Given the description of an element on the screen output the (x, y) to click on. 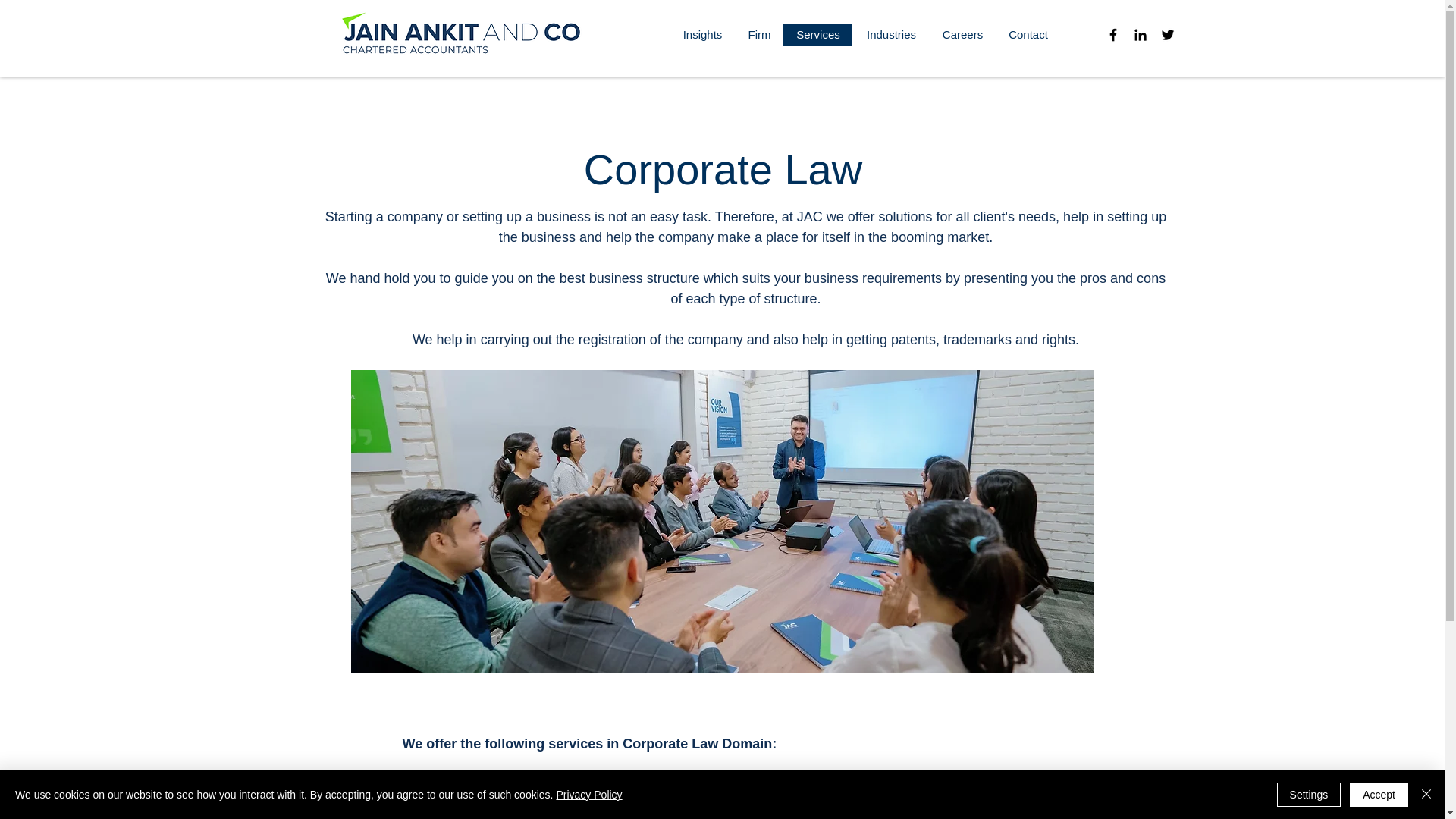
Services (817, 34)
Contact (1027, 34)
Privacy Policy (588, 794)
Accept (1378, 794)
Insights (702, 34)
Settings (1308, 794)
etting up a business  (531, 216)
